Given the description of an element on the screen output the (x, y) to click on. 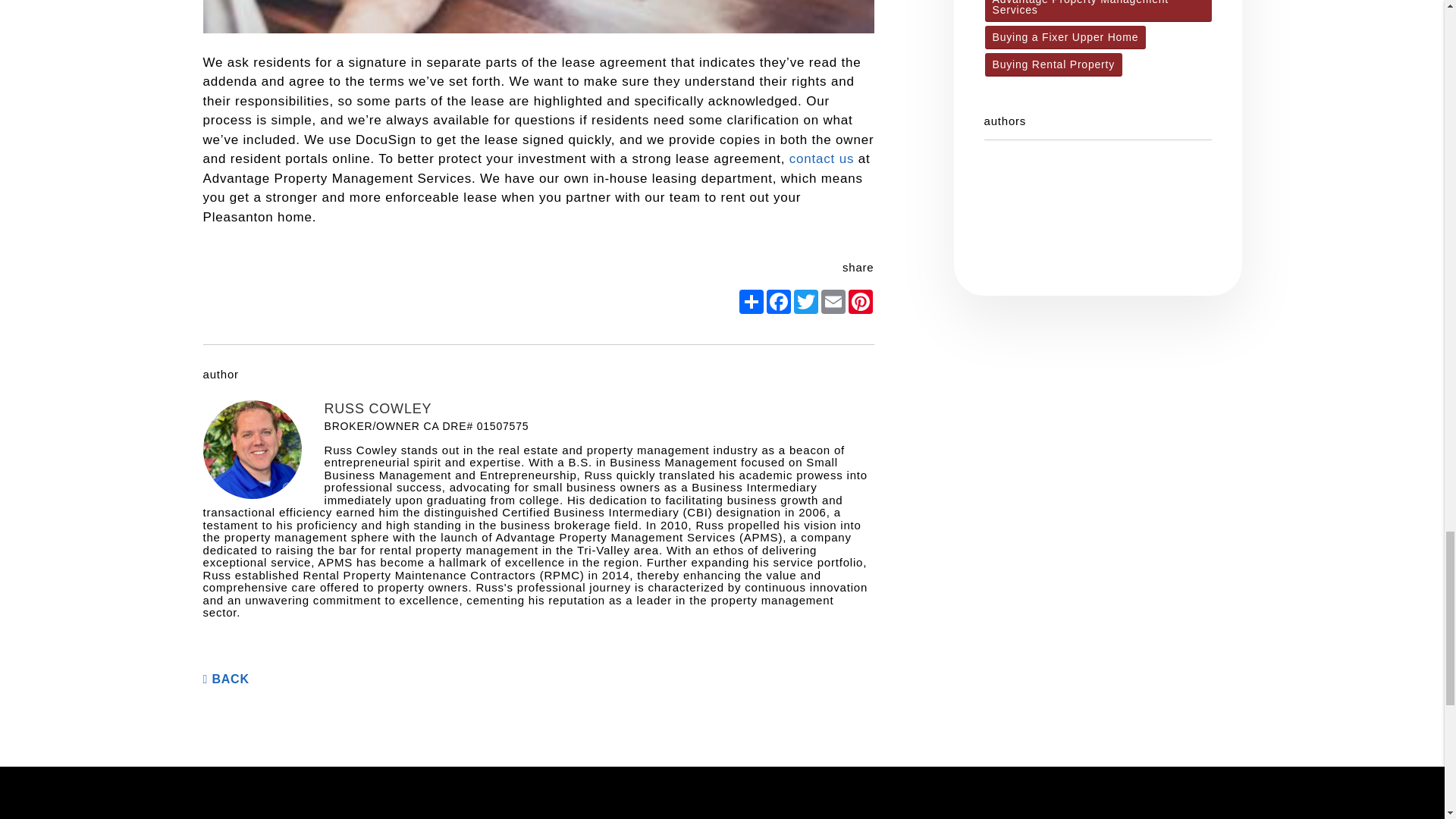
opens in new window (831, 301)
opens in new window (778, 301)
opens in new window (750, 301)
opens in new window (805, 301)
opens in new window (859, 301)
